Given the description of an element on the screen output the (x, y) to click on. 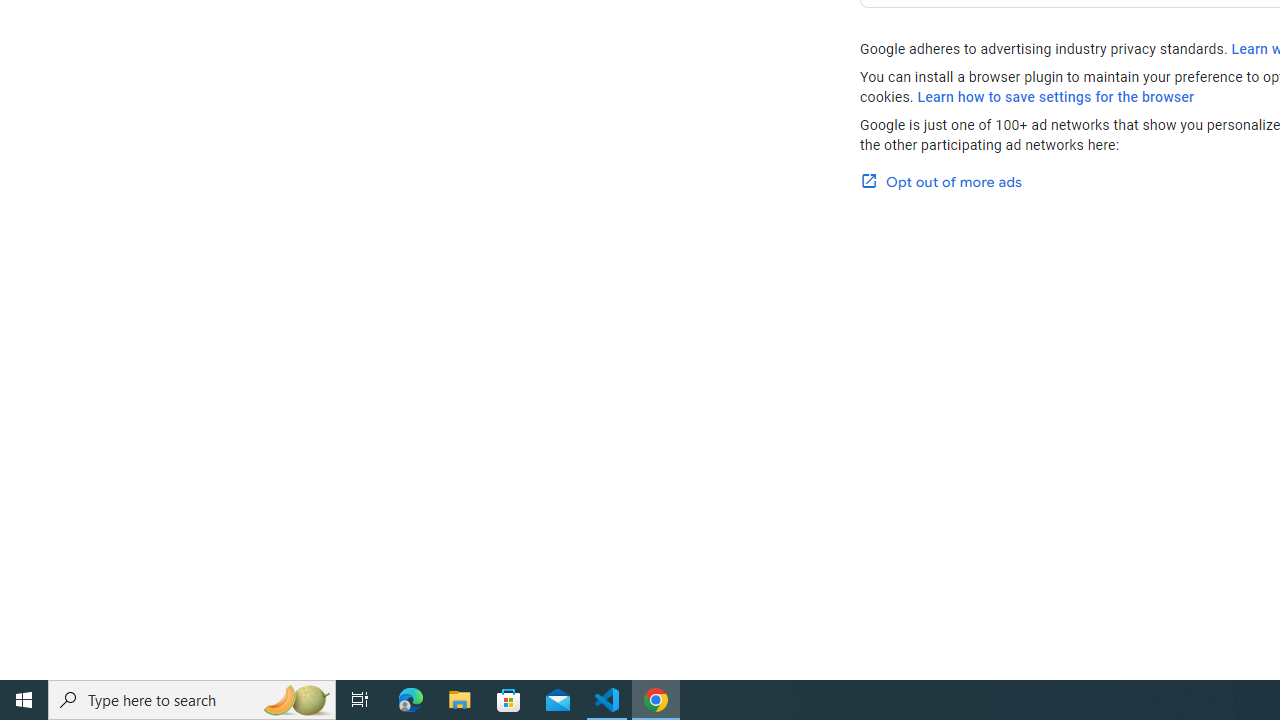
Learn how to save settings for the browser (1055, 97)
